Given the description of an element on the screen output the (x, y) to click on. 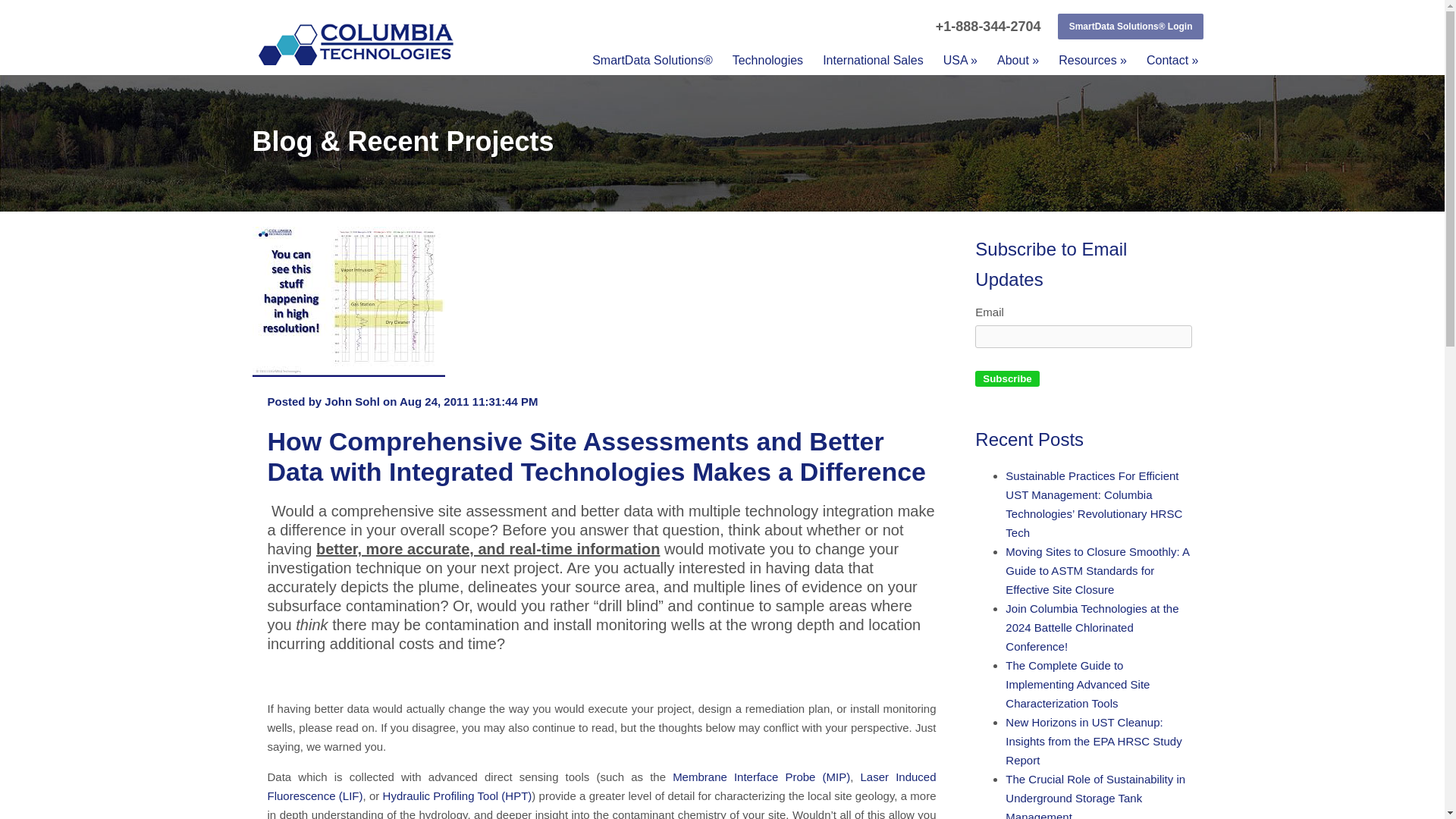
Subscribe (1007, 378)
High Resolution Site Characterization (354, 42)
International Sales (873, 60)
Technologies (767, 60)
